Given the description of an element on the screen output the (x, y) to click on. 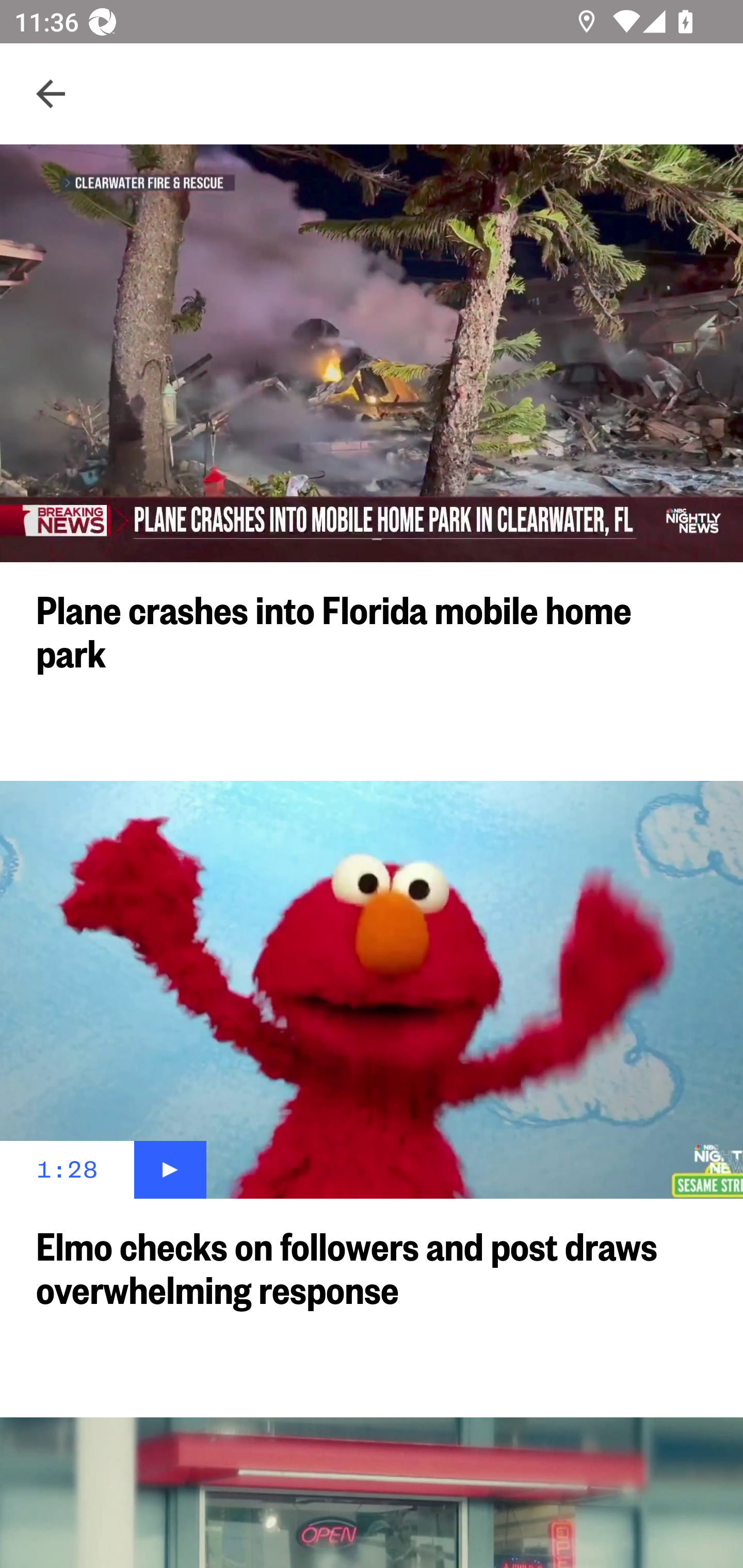
Navigate up (50, 93)
Video, Plane crashes into Florida mobile home park (371, 353)
